Given the description of an element on the screen output the (x, y) to click on. 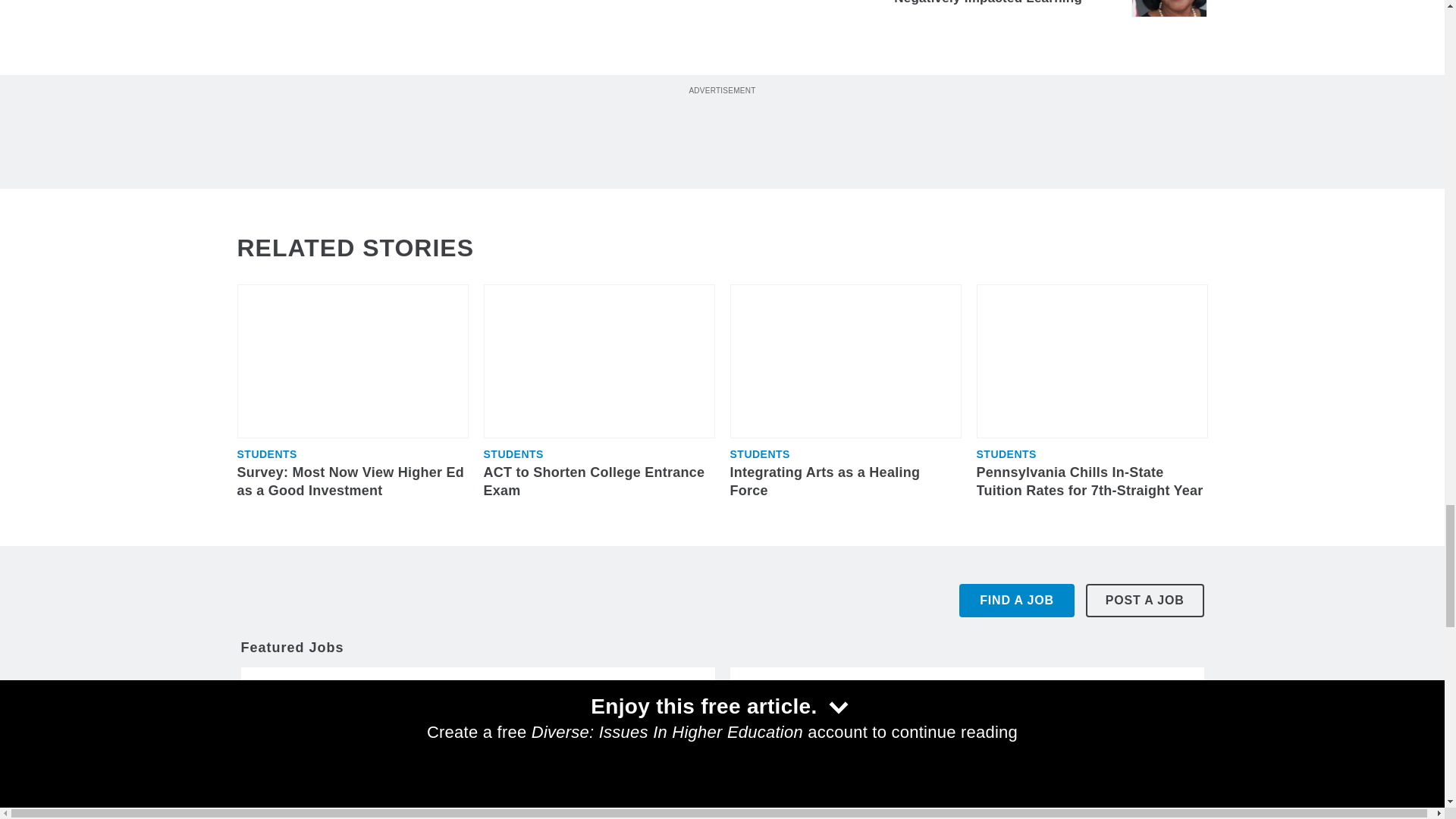
Students (266, 453)
Students (513, 453)
